Given the description of an element on the screen output the (x, y) to click on. 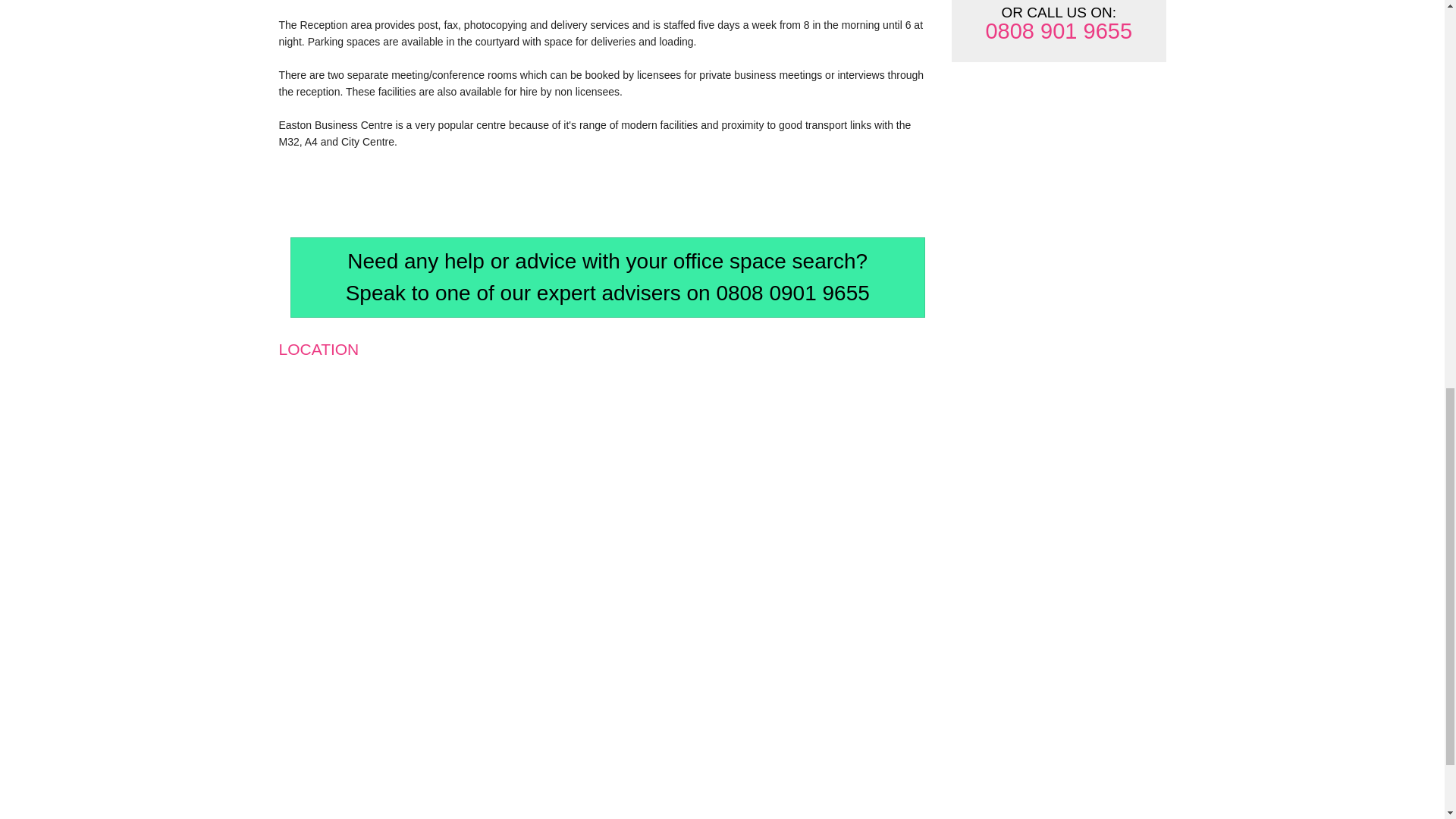
0808 0901 9655 (792, 292)
